Given the description of an element on the screen output the (x, y) to click on. 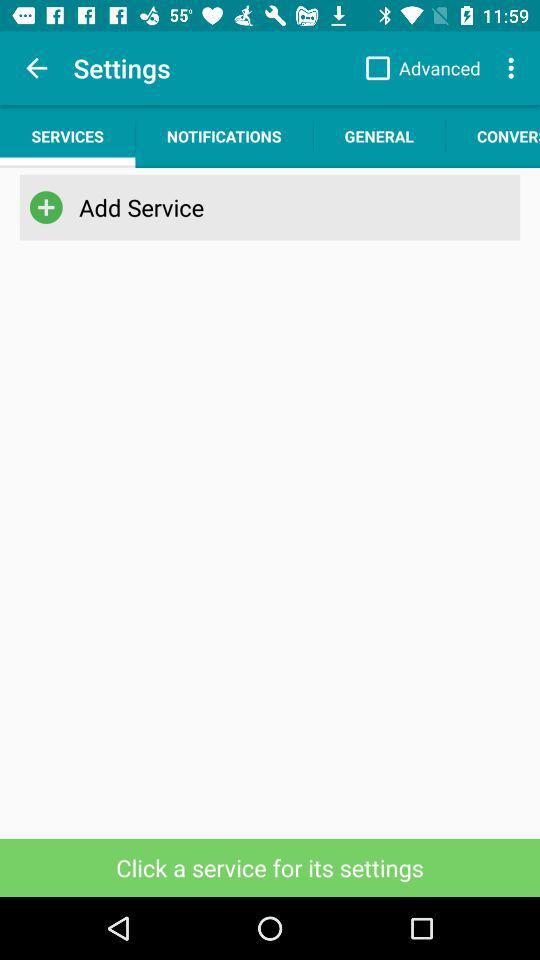
turn off app below the services item (46, 207)
